Given the description of an element on the screen output the (x, y) to click on. 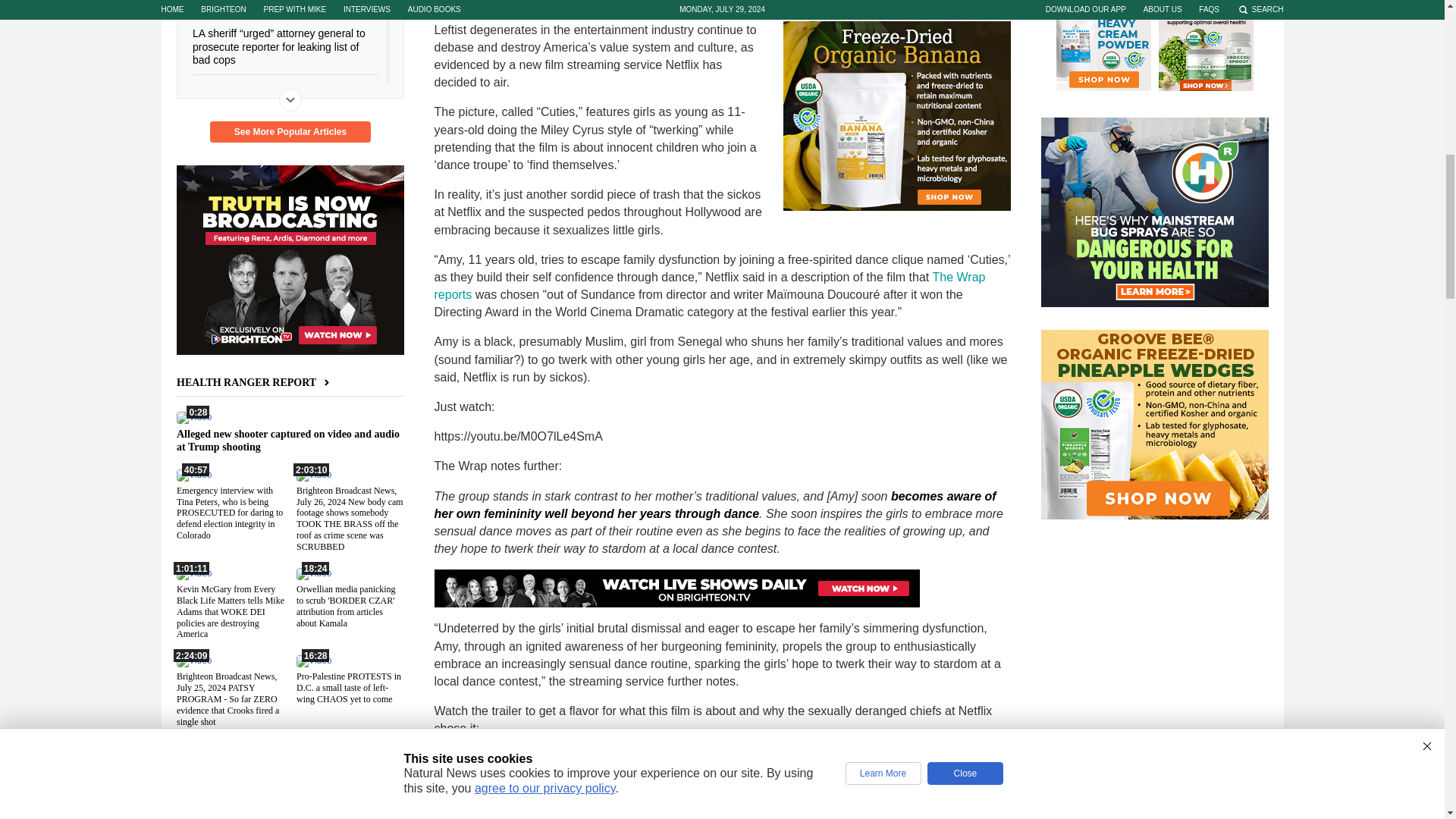
Scroll Down (290, 99)
